Given the description of an element on the screen output the (x, y) to click on. 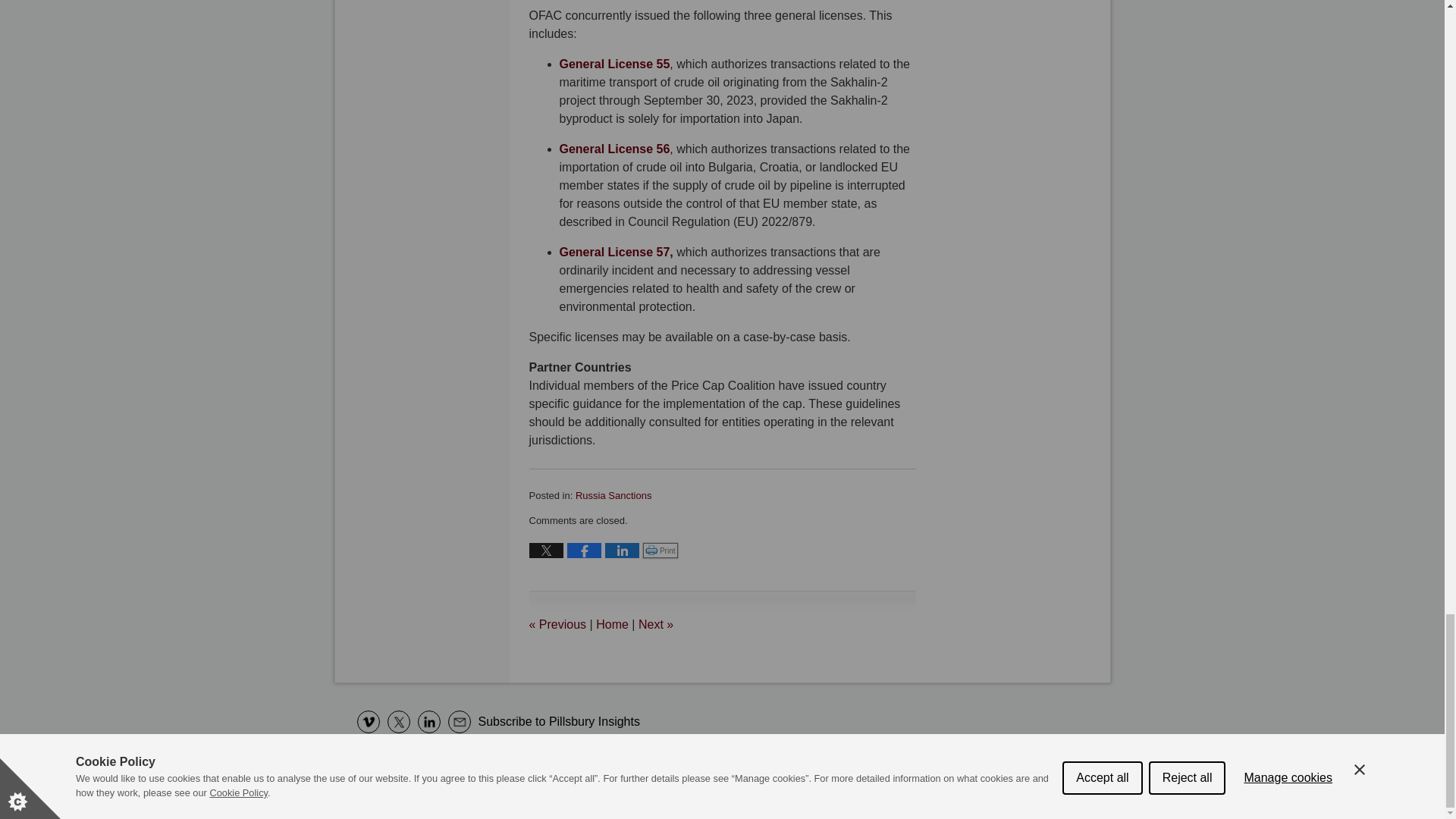
Click to print (660, 549)
View all posts in Russia Sanctions (612, 495)
Print (660, 549)
